Given the description of an element on the screen output the (x, y) to click on. 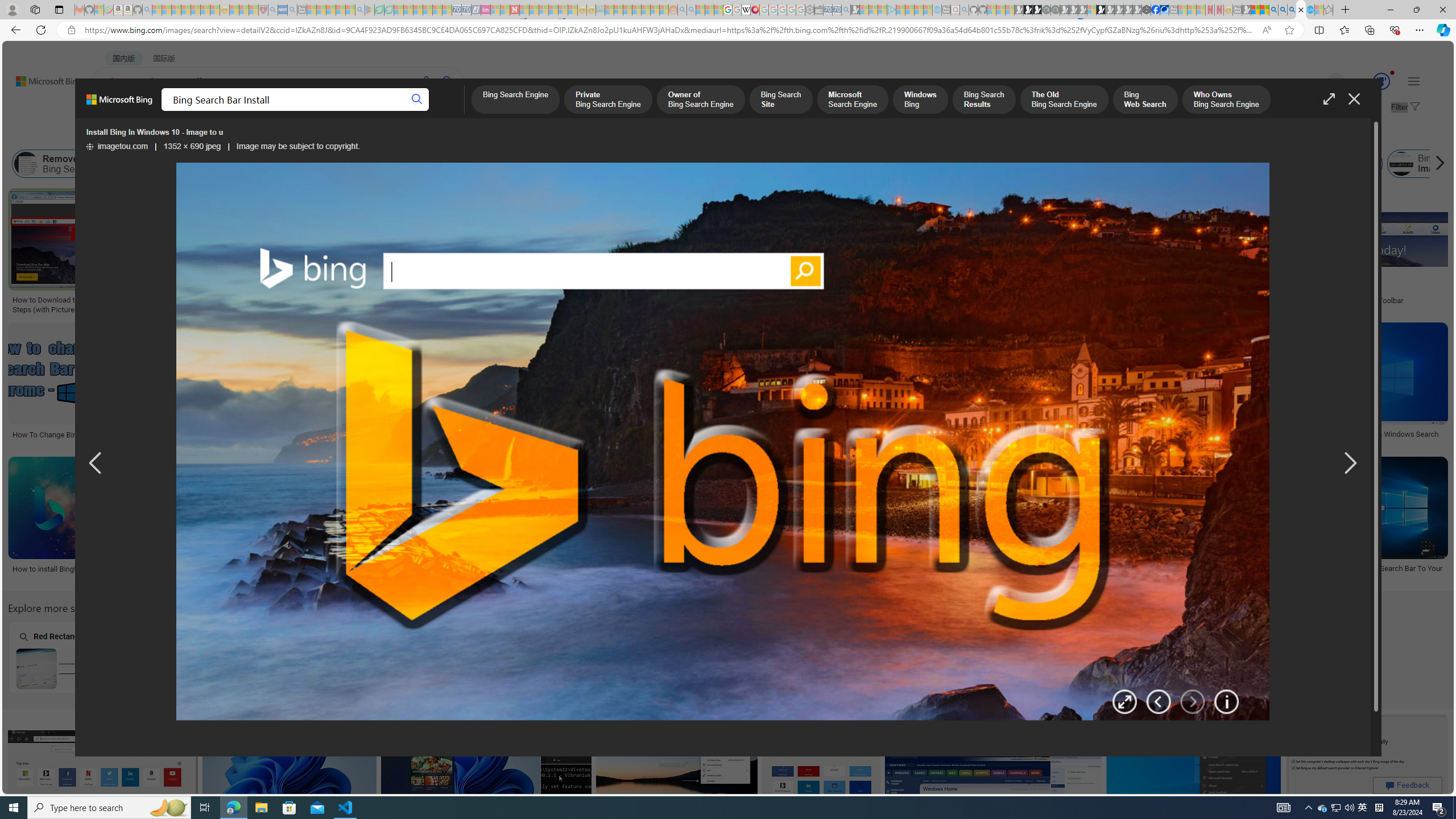
MediaWiki (754, 9)
Future Focus Report 2024 - Sleeping (1054, 9)
AutomationID: serp_medal_svg (1381, 81)
T-Shirts (704, 227)
Remove Bing Search Bar (66, 163)
3:12 (1098, 332)
Pets - MSN - Sleeping (340, 9)
